Given the description of an element on the screen output the (x, y) to click on. 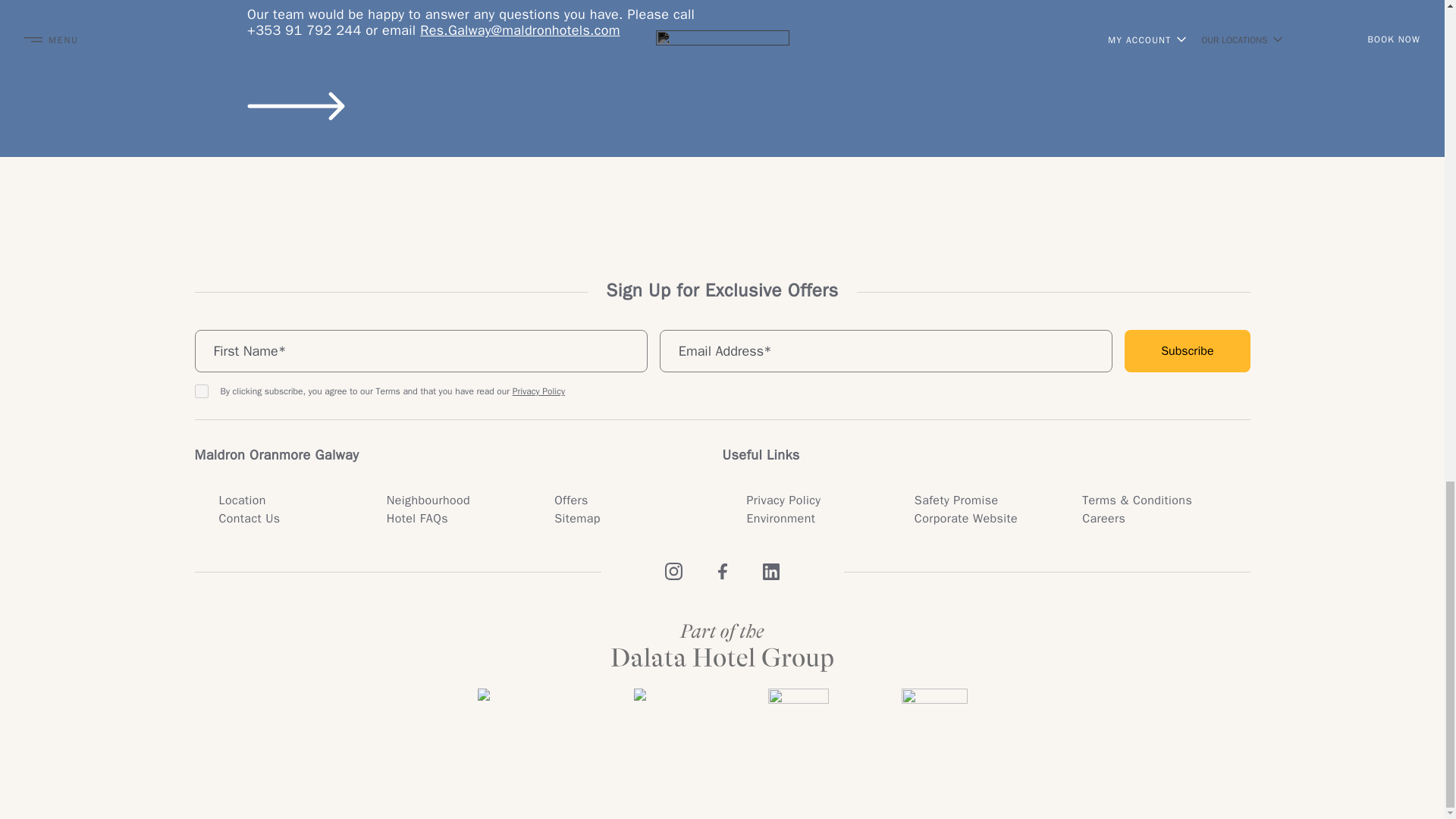
Instagram (673, 571)
LinkedIn (770, 571)
Maldron Hotels  (518, 710)
Subscribe (1186, 351)
terms (200, 391)
The Gibson  (797, 710)
The Samuel  (933, 710)
Facebook (721, 571)
Clayton Hotels (664, 710)
